Given the description of an element on the screen output the (x, y) to click on. 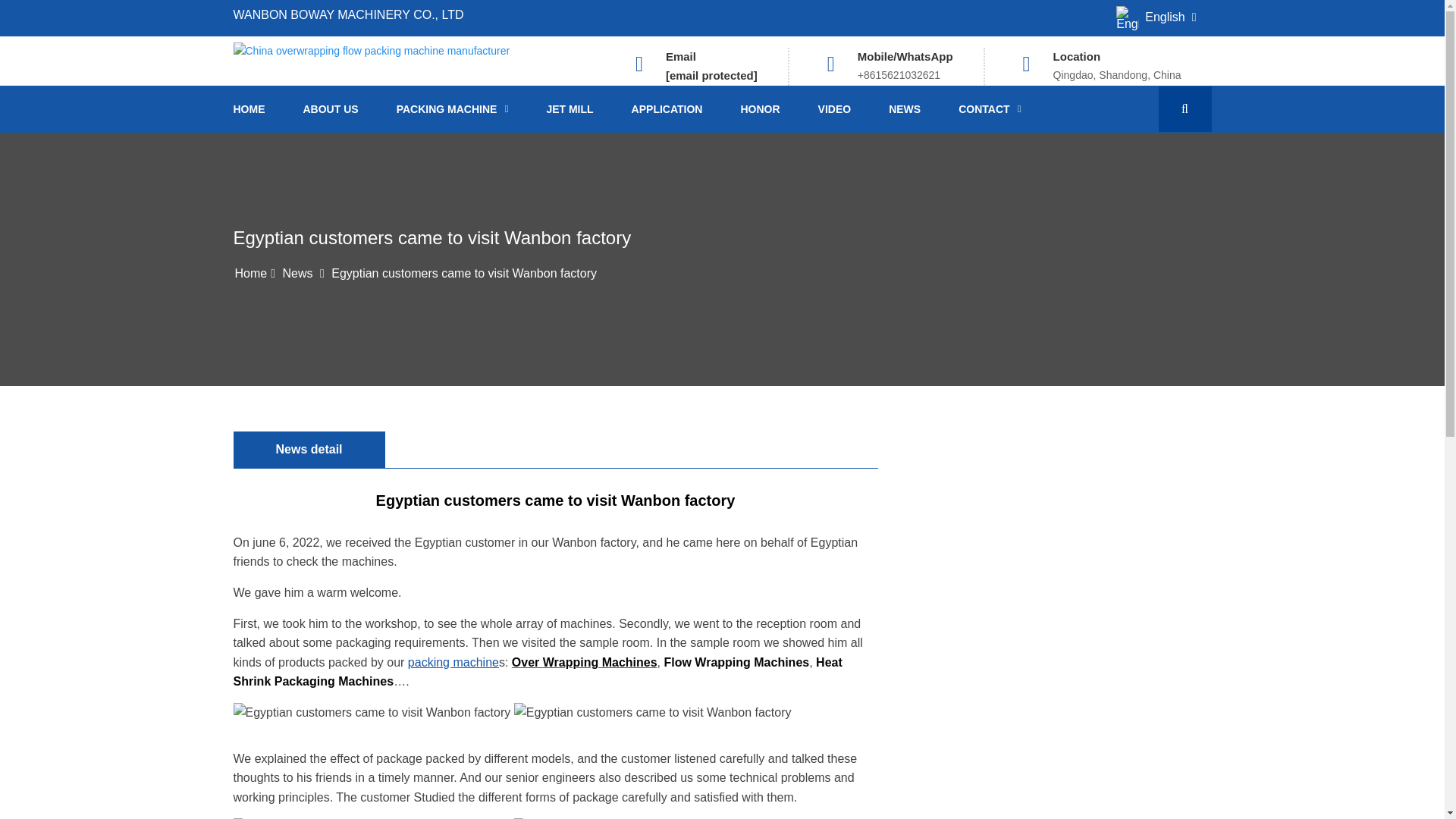
English   (1155, 18)
ABOUT US (330, 108)
Product (452, 108)
Jet Mill (569, 108)
About (330, 108)
News (297, 273)
PACKING MACHINE (452, 108)
APPLICATION (667, 108)
Home (250, 273)
JET MILL (569, 108)
